Given the description of an element on the screen output the (x, y) to click on. 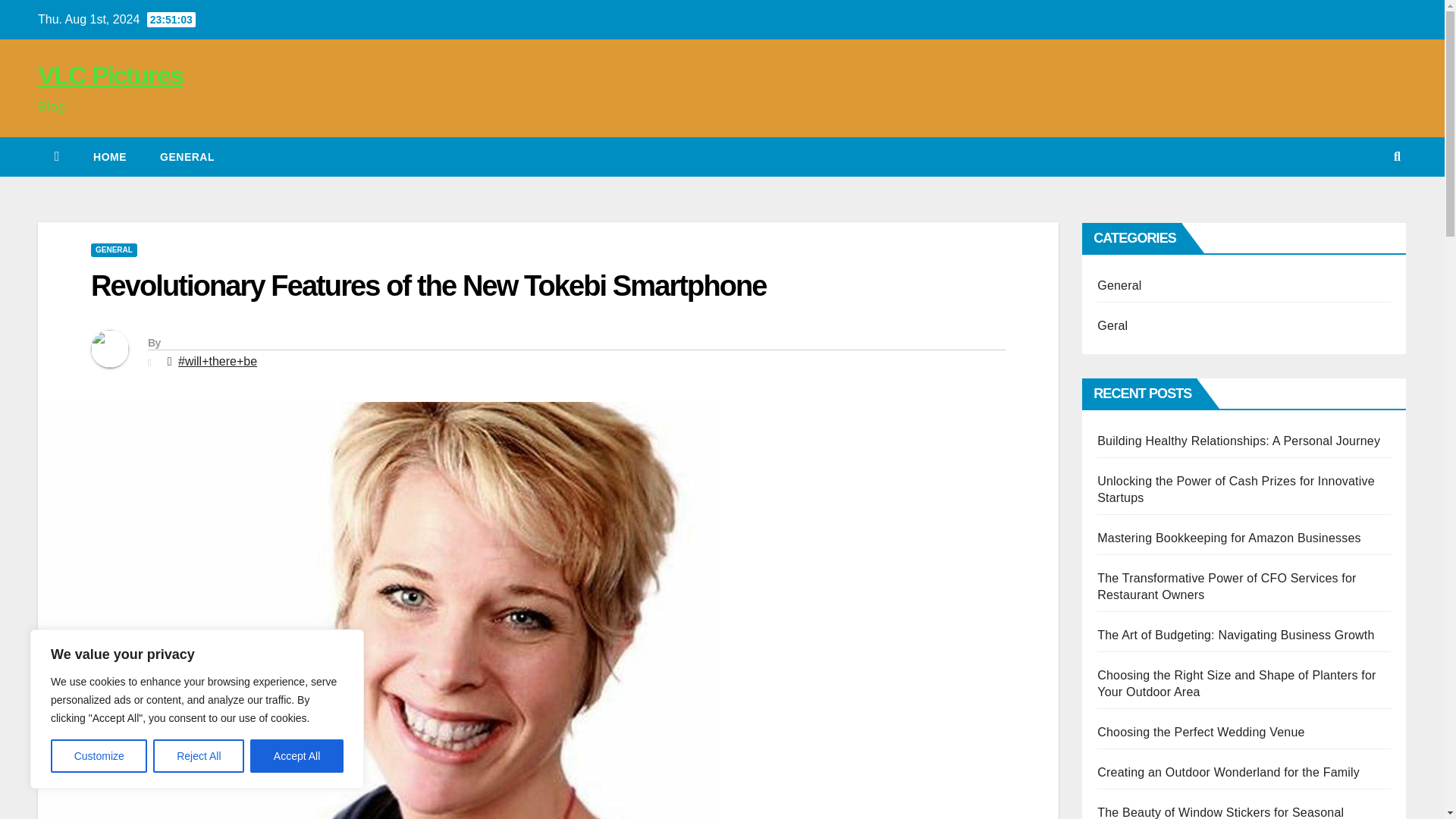
VLC Pictures (110, 74)
GENERAL (186, 156)
HOME (109, 156)
Reject All (198, 756)
GENERAL (113, 250)
General (186, 156)
Home (109, 156)
Revolutionary Features of the New Tokebi Smartphone (428, 286)
Customize (98, 756)
